Given the description of an element on the screen output the (x, y) to click on. 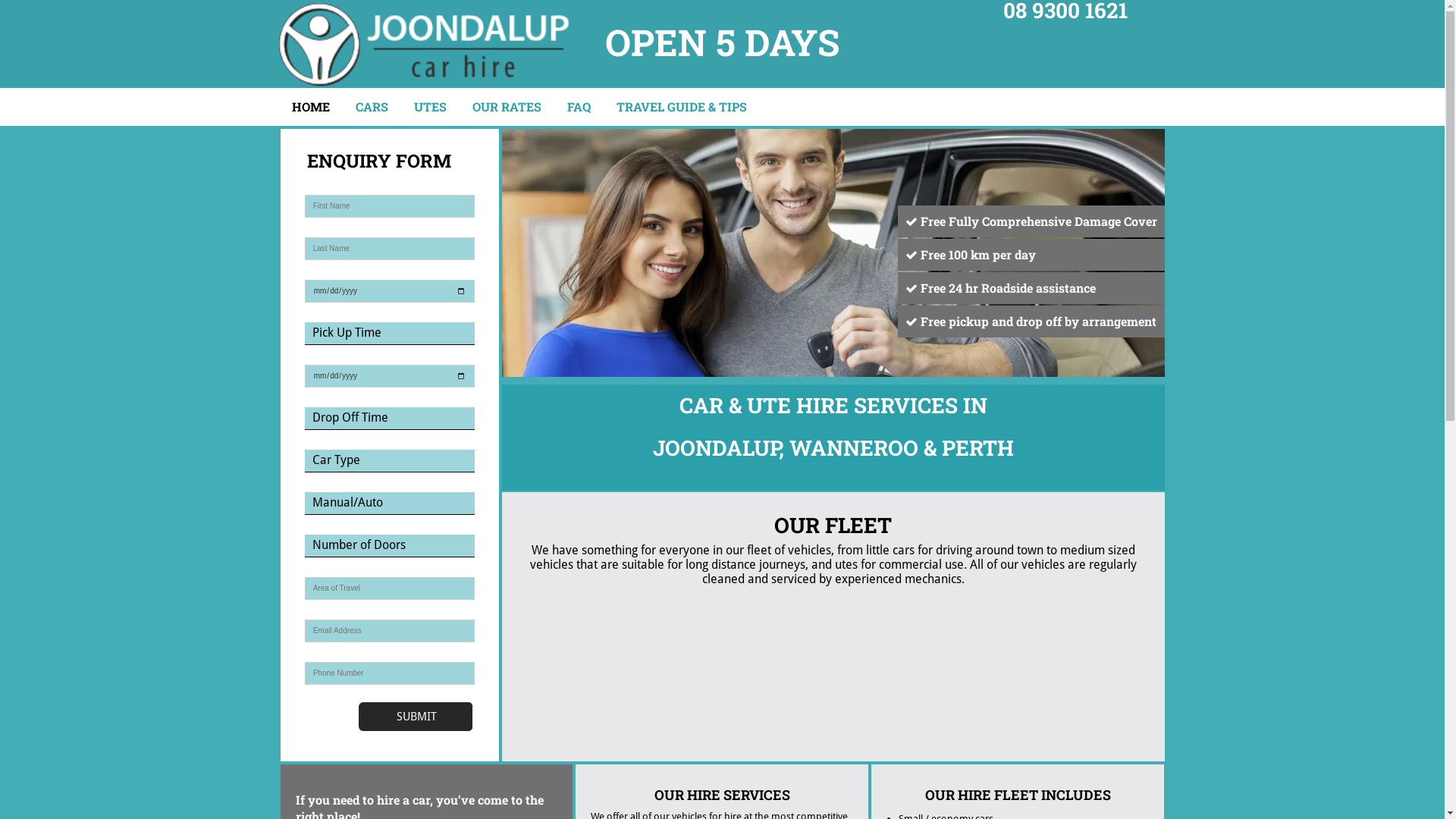
UTES Element type: text (430, 106)
CARS Element type: text (370, 106)
HOME Element type: text (310, 106)
TRAVEL GUIDE & TIPS Element type: text (680, 106)
FAQ Element type: text (578, 106)
SUBMIT Element type: text (416, 716)
OUR RATES Element type: text (505, 106)
